Given the description of an element on the screen output the (x, y) to click on. 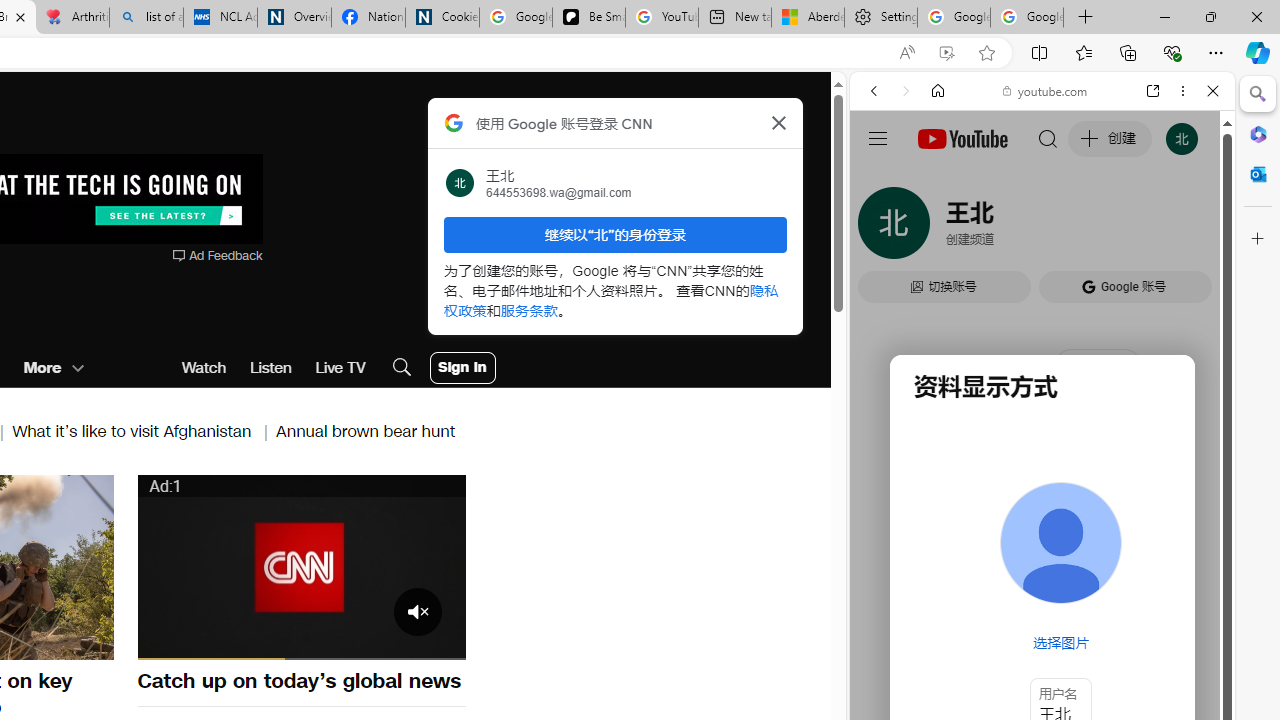
Search Filter, IMAGES (939, 228)
Pause (164, 642)
Arthritis: Ask Health Professionals (71, 17)
Music (1042, 543)
Open link in new tab (1153, 91)
WEB   (882, 228)
Show More Music (1164, 546)
Unmute (208, 642)
